Given the description of an element on the screen output the (x, y) to click on. 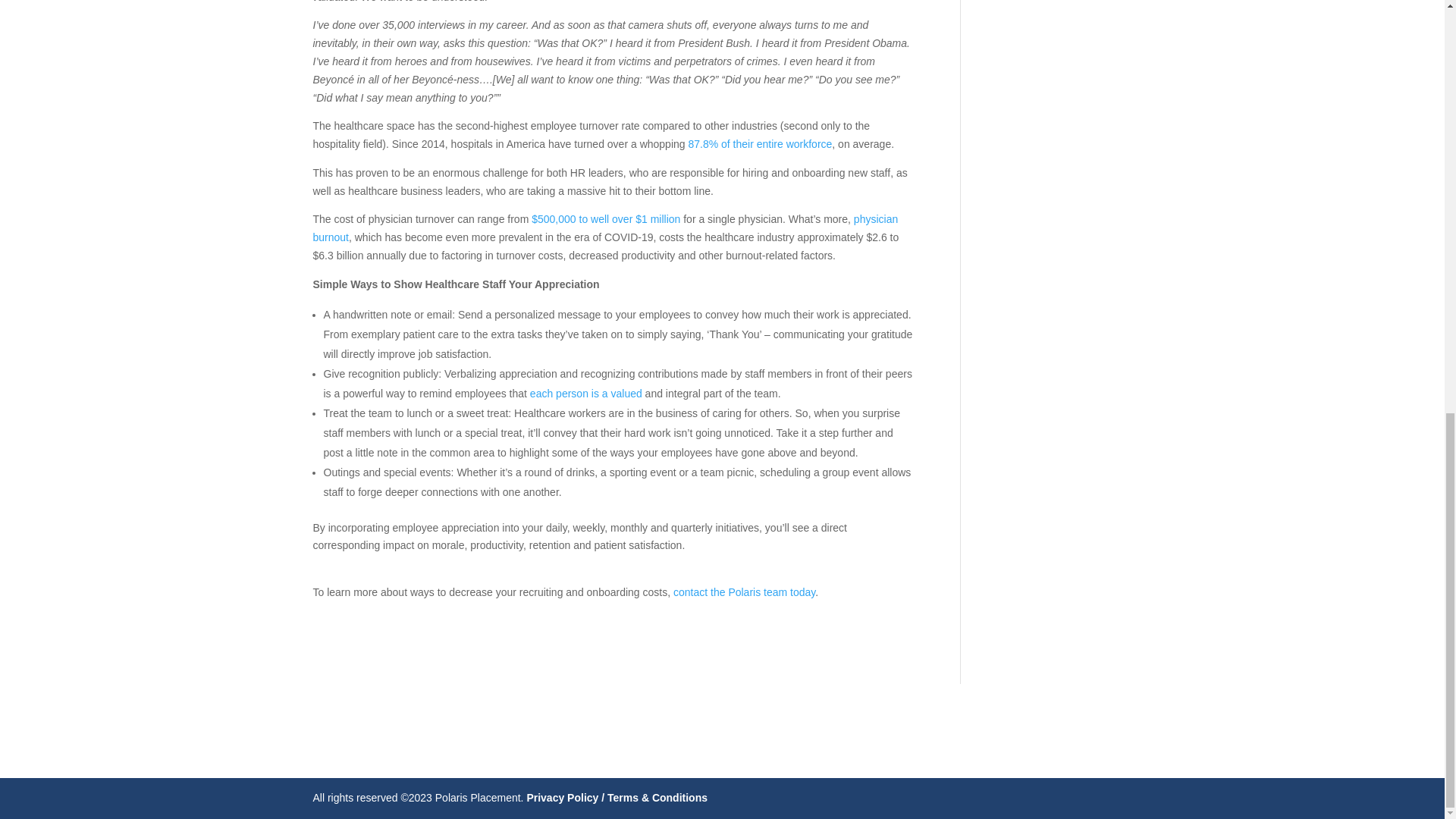
physician burnout (605, 227)
each person is a valued (585, 393)
contact the Polaris team today (743, 592)
